Given the description of an element on the screen output the (x, y) to click on. 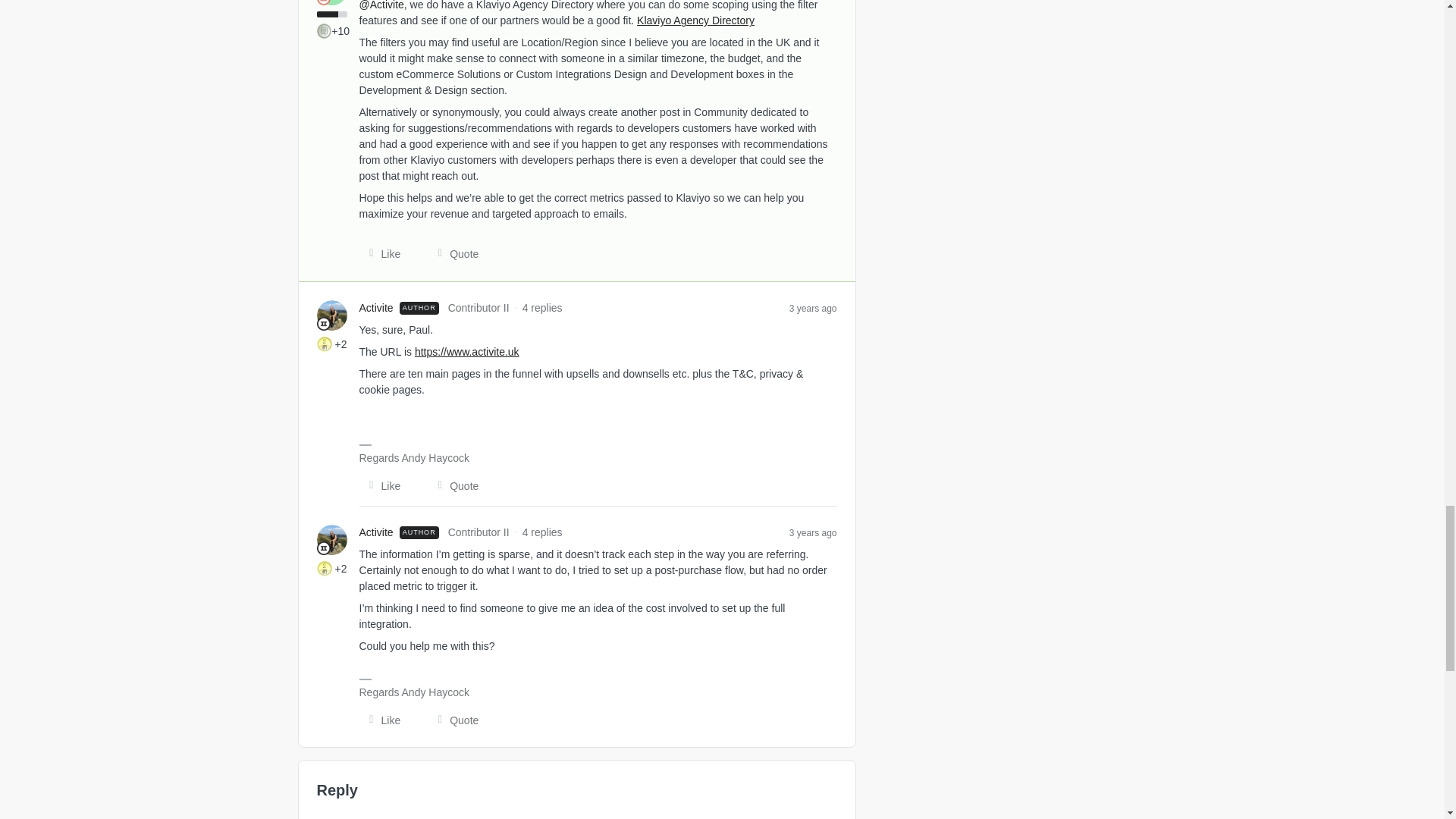
Contributor II (323, 323)
Anniversary - 2 years (324, 344)
Klaviyo Employee (323, 2)
